Given the description of an element on the screen output the (x, y) to click on. 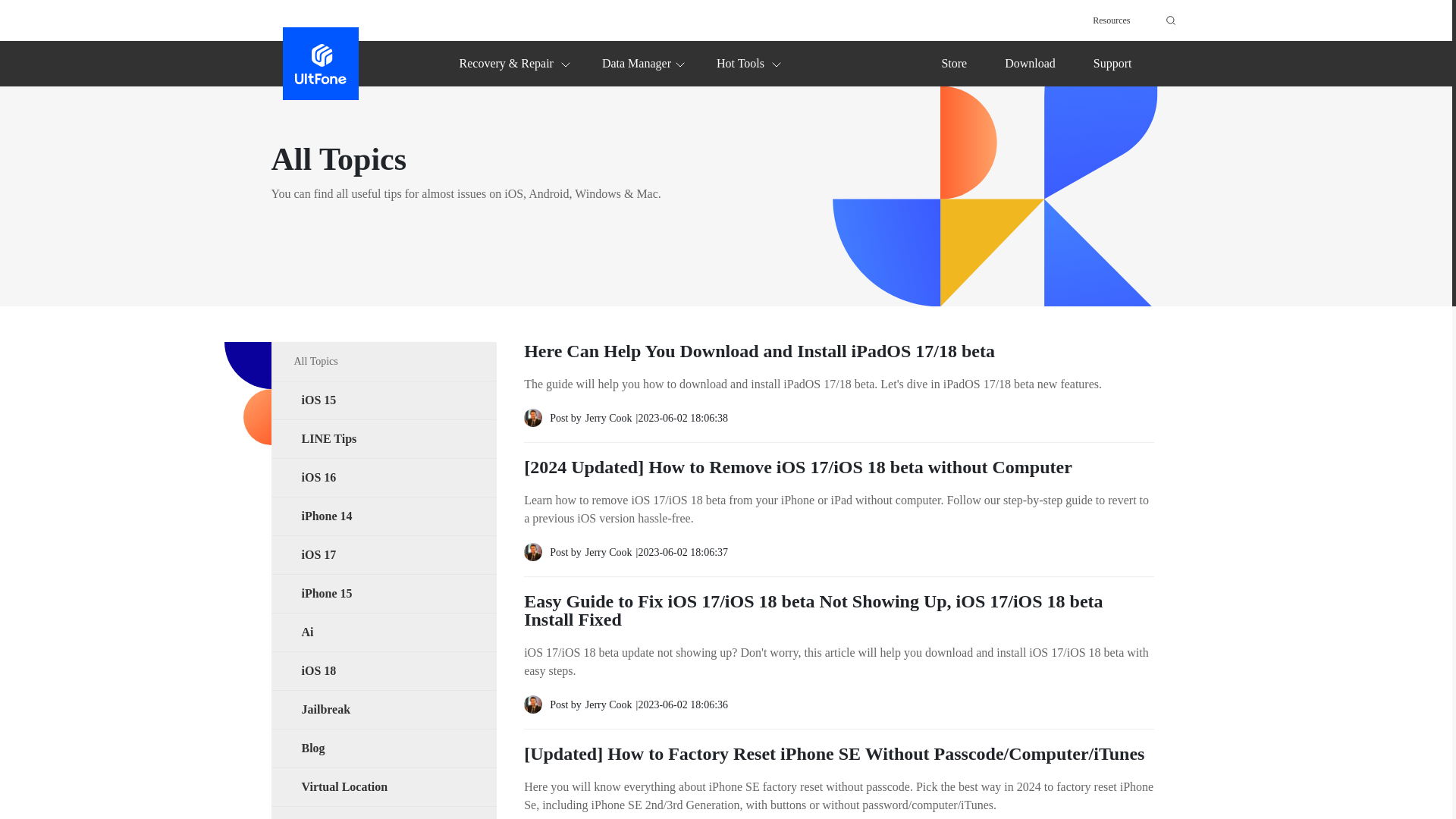
Resources (1111, 20)
submit button (1167, 20)
Support (1112, 62)
submit button (1167, 20)
Download (1029, 62)
submit button (1167, 20)
Store (953, 62)
